Given the description of an element on the screen output the (x, y) to click on. 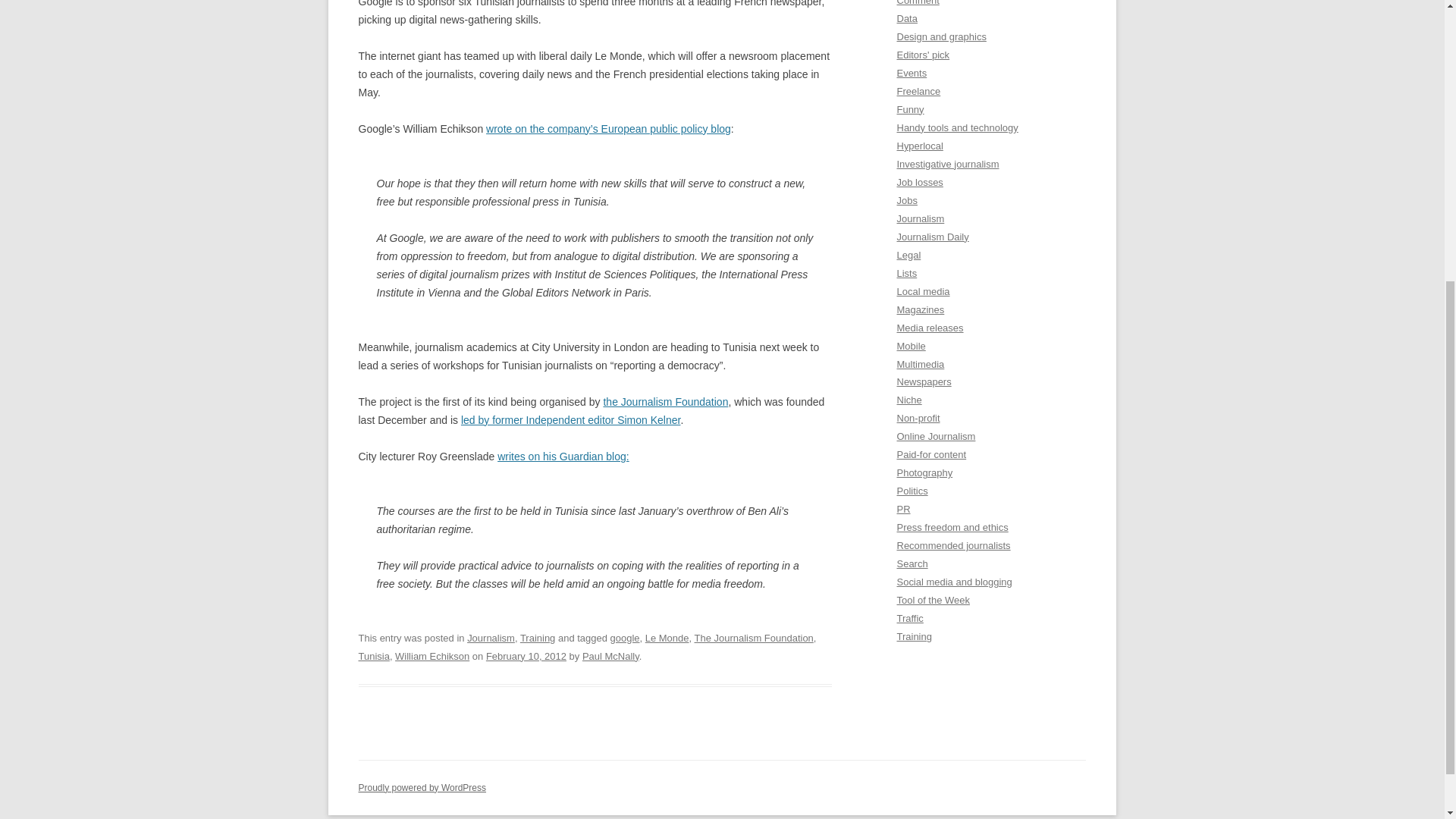
Le Monde (666, 637)
Handy tools and technology (956, 127)
led by former Independent editor Simon Kelner (571, 419)
google (625, 637)
Training (536, 637)
William Echikson (431, 655)
The Journalism Foundation (753, 637)
Freelance (918, 91)
Events (911, 72)
Tunisia (373, 655)
Hyperlocal (919, 145)
Jobs (906, 200)
Journalism (491, 637)
View all posts by Paul McNally (610, 655)
4:11 pm (526, 655)
